Given the description of an element on the screen output the (x, y) to click on. 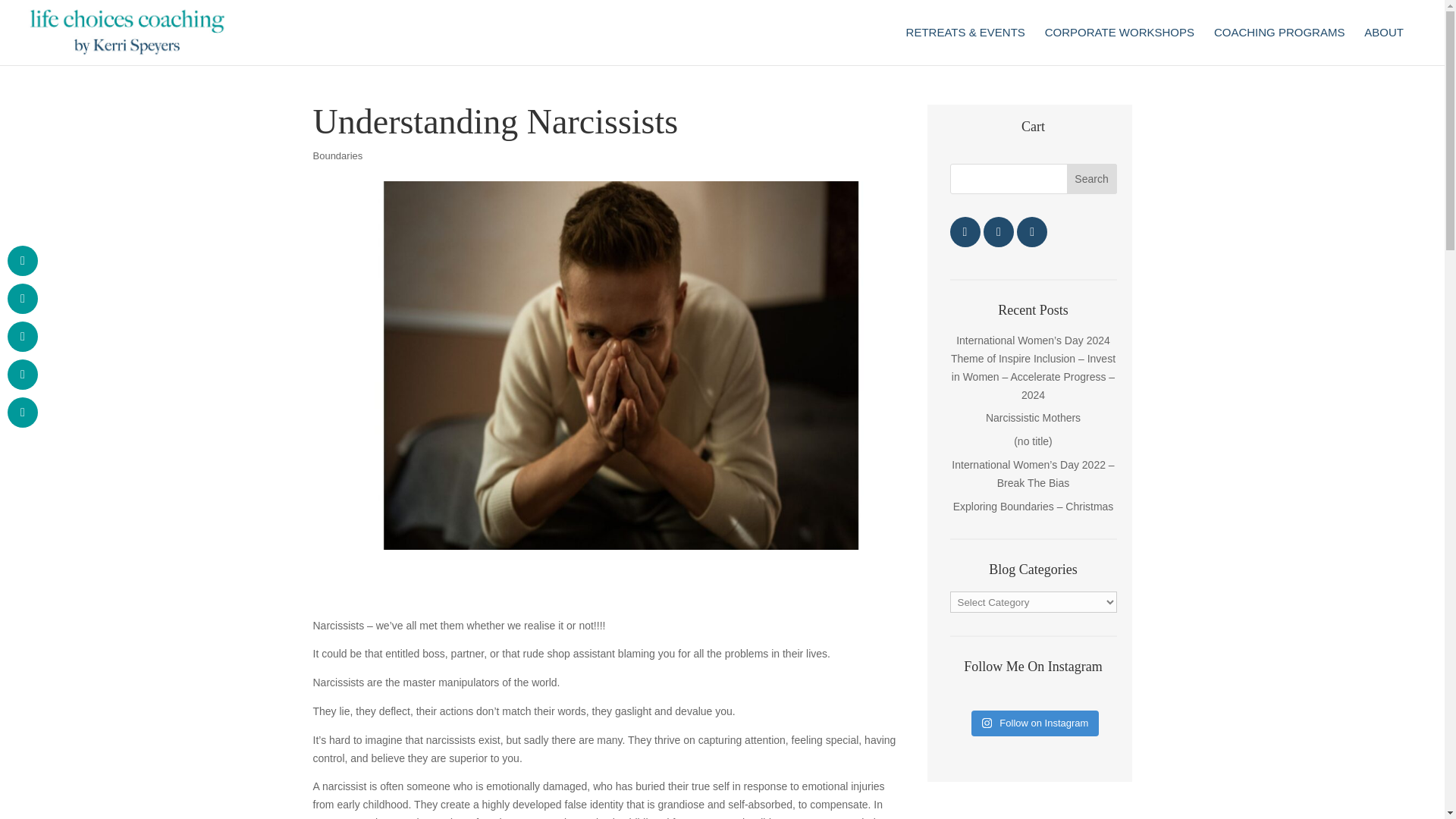
Search (1091, 178)
Search (1091, 178)
Boundaries (337, 155)
COACHING PROGRAMS (1279, 46)
CORPORATE WORKSHOPS (1119, 46)
Follow on Instagram (1035, 723)
ABOUT (1383, 46)
Narcissistic Mothers (1032, 417)
